Given the description of an element on the screen output the (x, y) to click on. 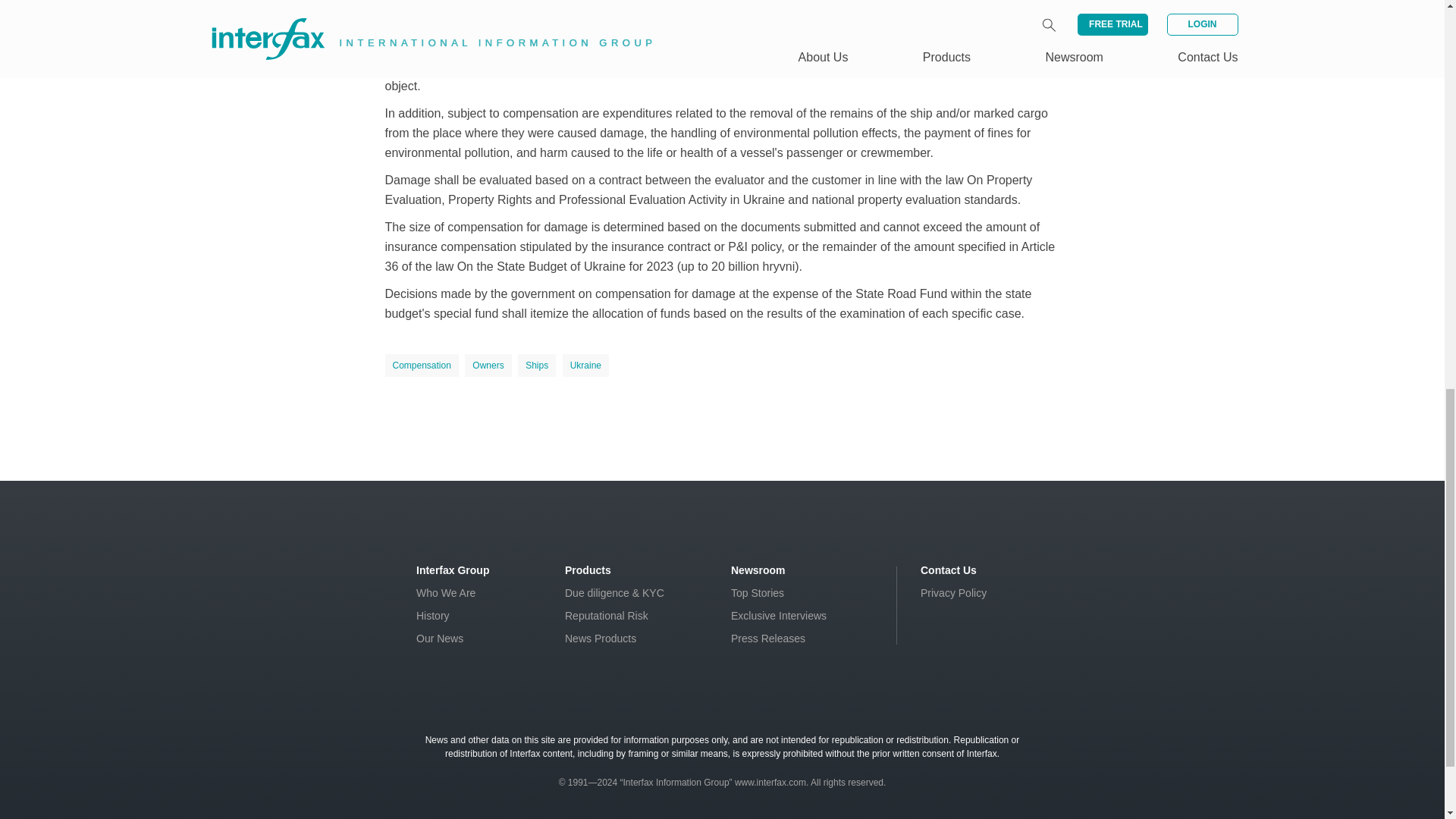
Owners (487, 364)
Compensation (421, 364)
Ukraine (585, 364)
Ships (537, 364)
